Given the description of an element on the screen output the (x, y) to click on. 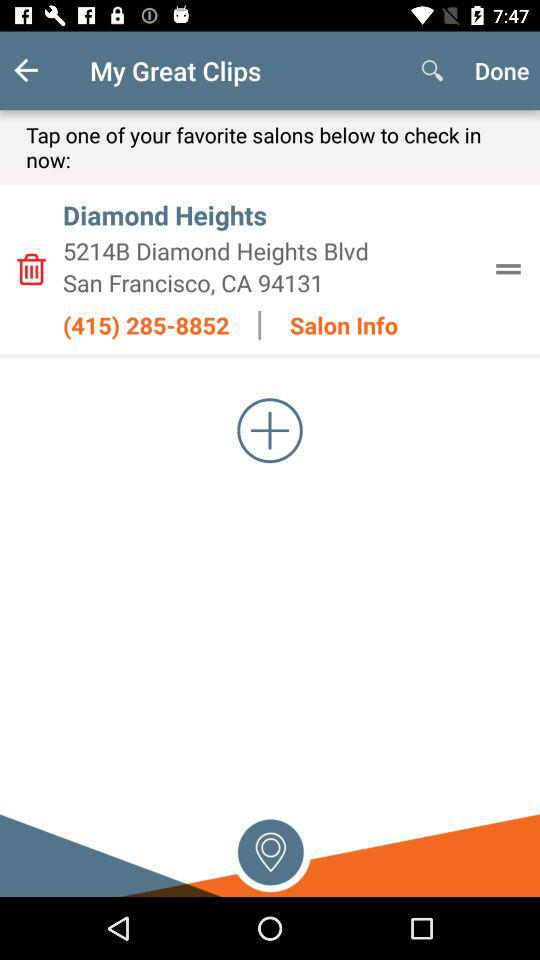
tap the (415) 285-8852 item (146, 325)
